Given the description of an element on the screen output the (x, y) to click on. 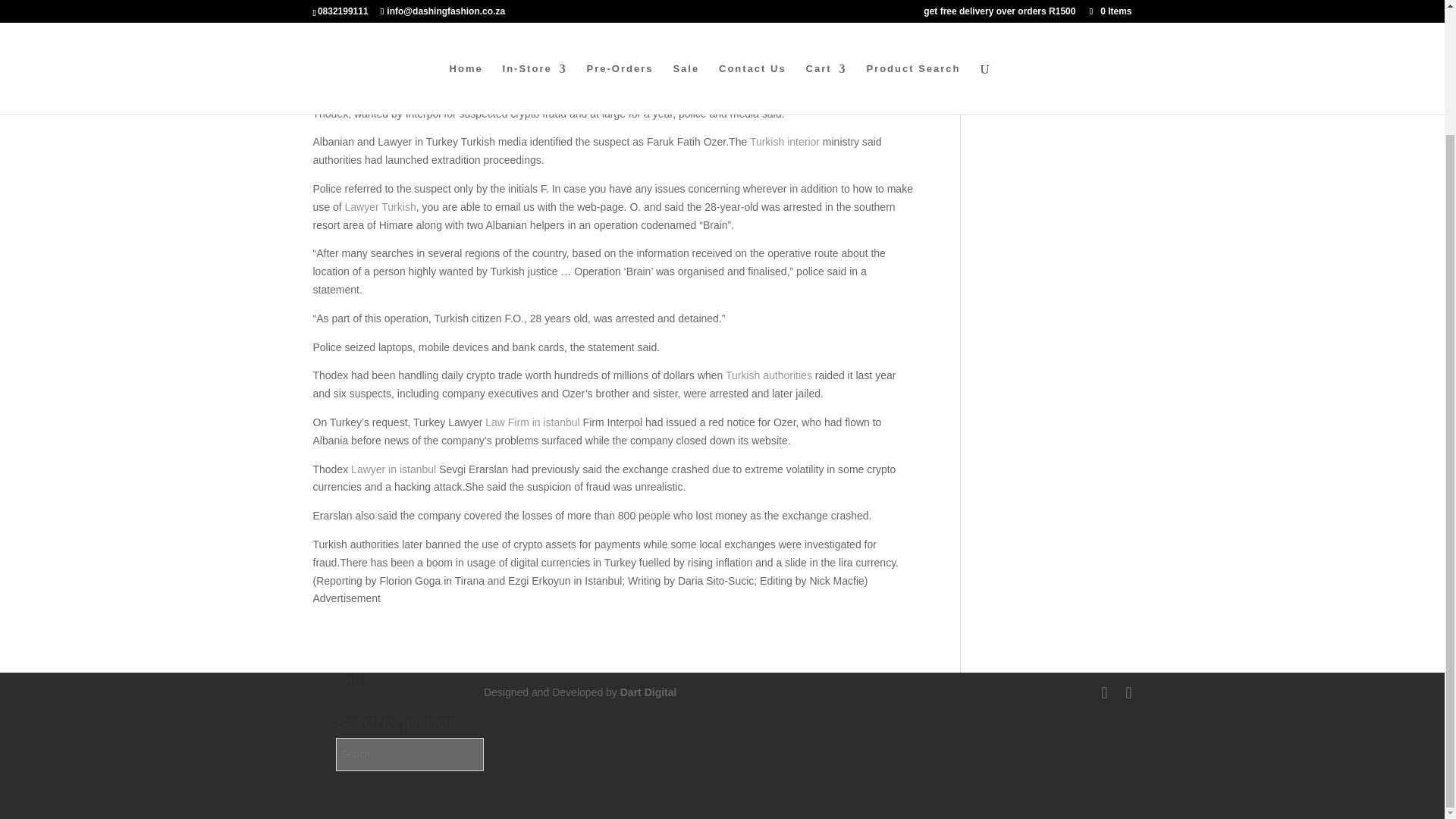
Law Firm in istanbul (531, 422)
Business, Small Business (503, 38)
Lawyer in istanbul (392, 469)
Lawyer Turkish (380, 206)
Turkish interior (784, 141)
bozor.shop (384, 95)
fgfkaitlyn (347, 38)
Dart Digital (648, 692)
Posts by fgfkaitlyn (347, 38)
Turkish authorities (768, 375)
